Given the description of an element on the screen output the (x, y) to click on. 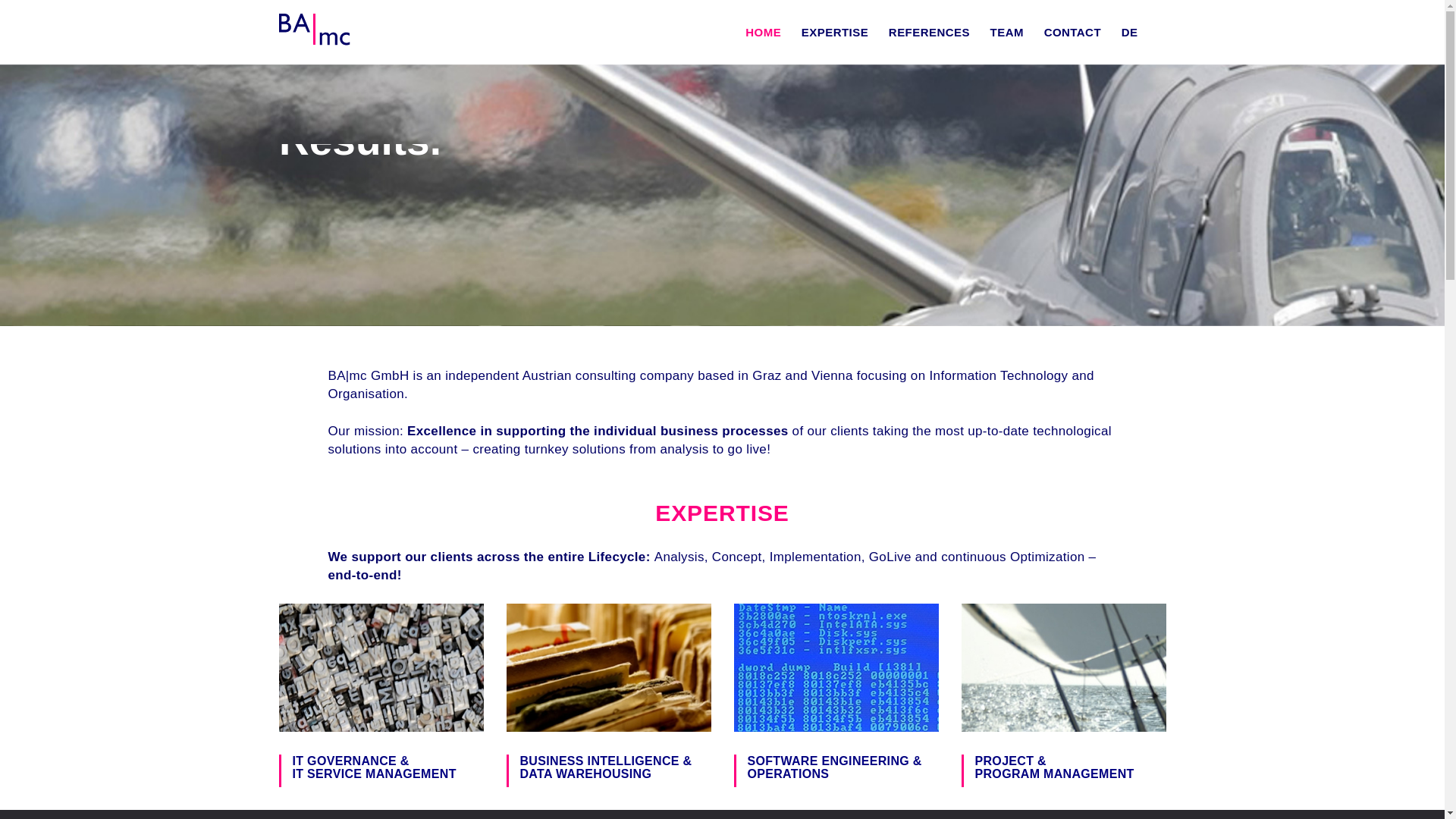
References (391, 207)
REFERENCES (928, 32)
EXPERTISE (834, 32)
